Given the description of an element on the screen output the (x, y) to click on. 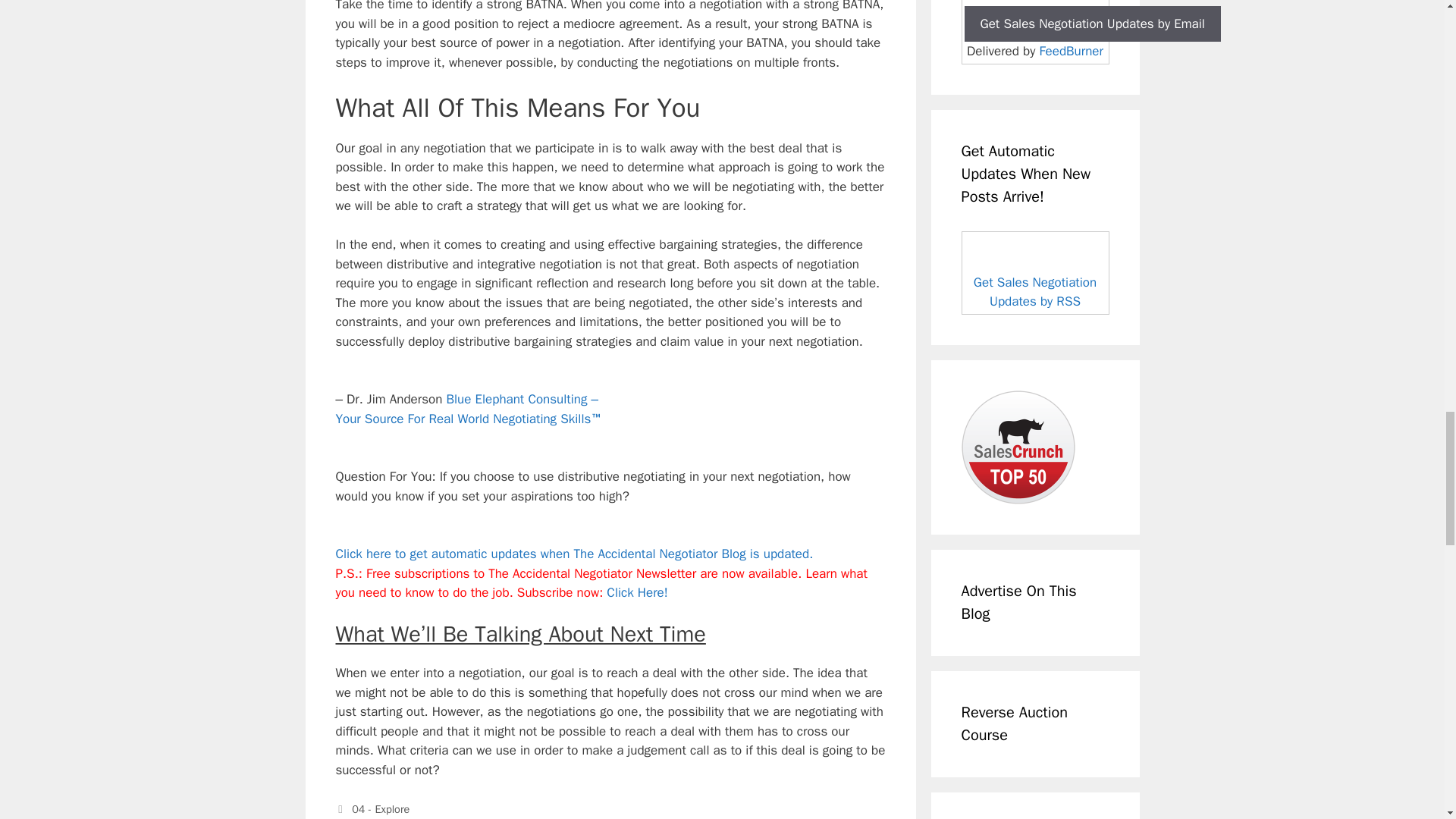
04 - Explore (380, 808)
Subscribe to my feed (573, 553)
Subscribe to my feed (1034, 272)
Get Sales Negotiation Updates by Email (1092, 23)
The Accidental Negotiator Makes SalesCrunch's Top 50 List! (1017, 447)
Click Here! (636, 592)
Get Sales Negotiation Updates by RSS (1035, 292)
Subscribe to The Accidental Negotiator Newsletter (636, 592)
